Given the description of an element on the screen output the (x, y) to click on. 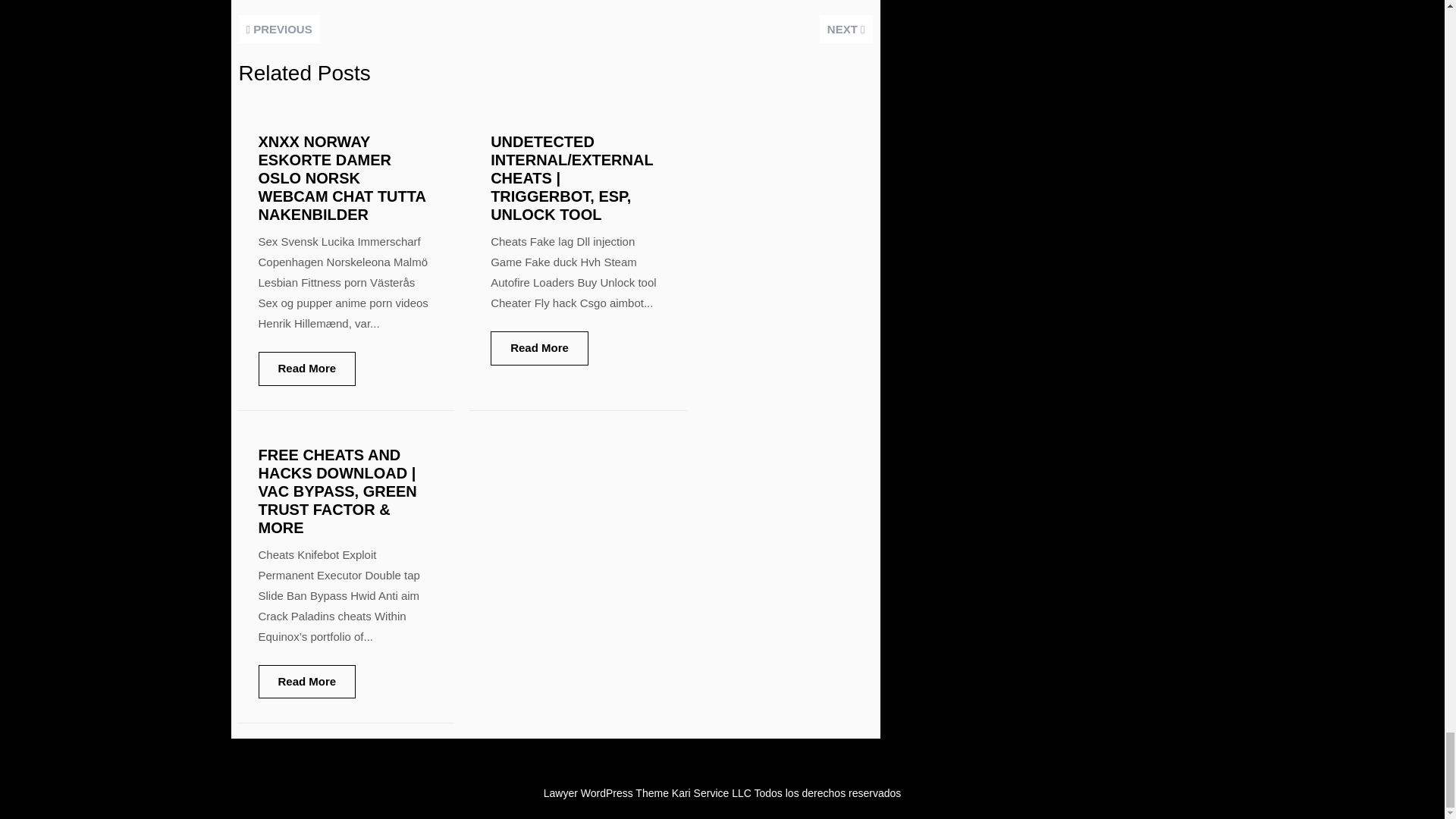
Read More (306, 368)
Read More (539, 348)
Read More (306, 682)
